Given the description of an element on the screen output the (x, y) to click on. 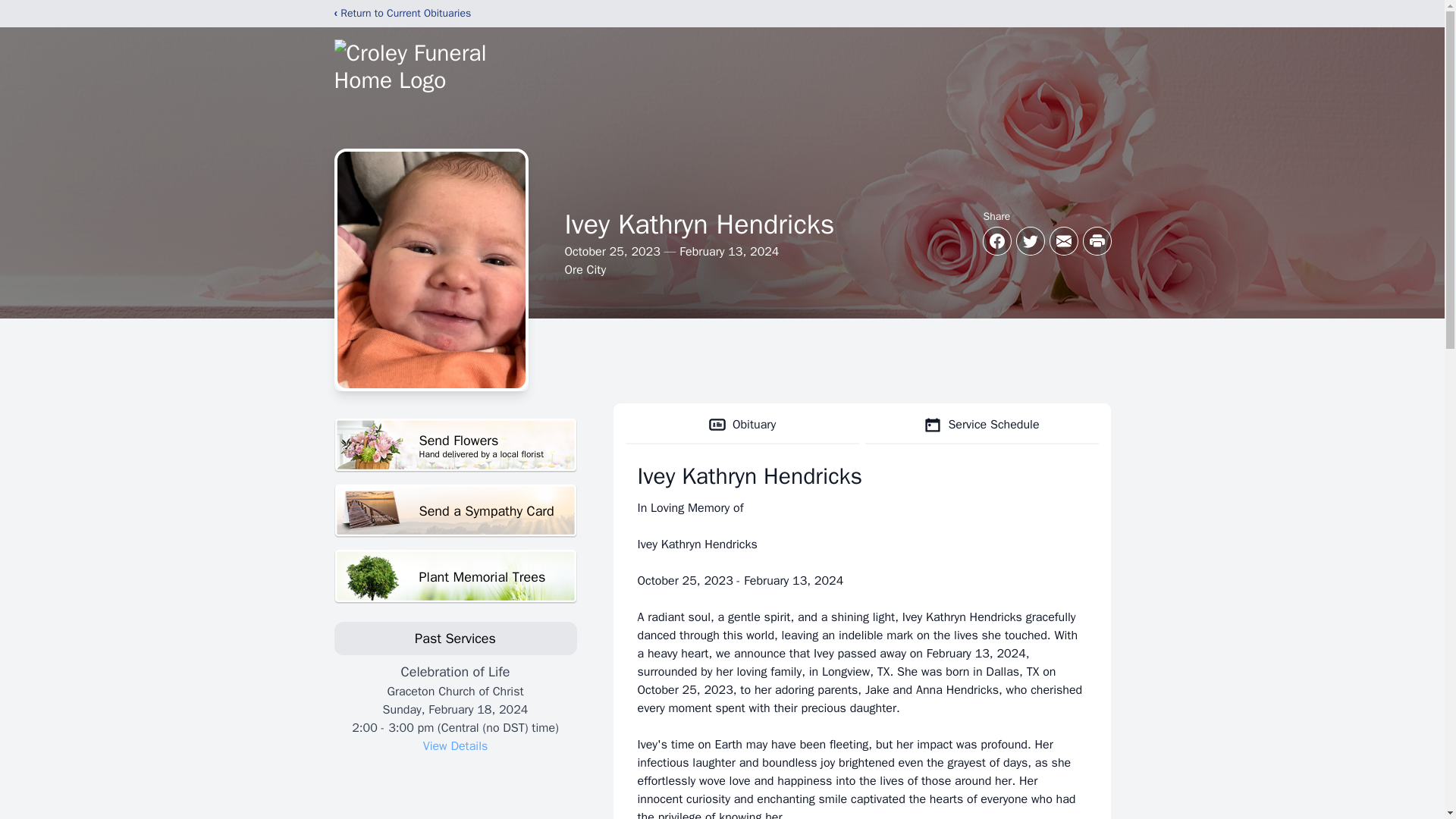
View Details (455, 745)
Obituary (741, 425)
Plant Memorial Trees (454, 445)
Send a Sympathy Card (454, 576)
Service Schedule (454, 511)
